Given the description of an element on the screen output the (x, y) to click on. 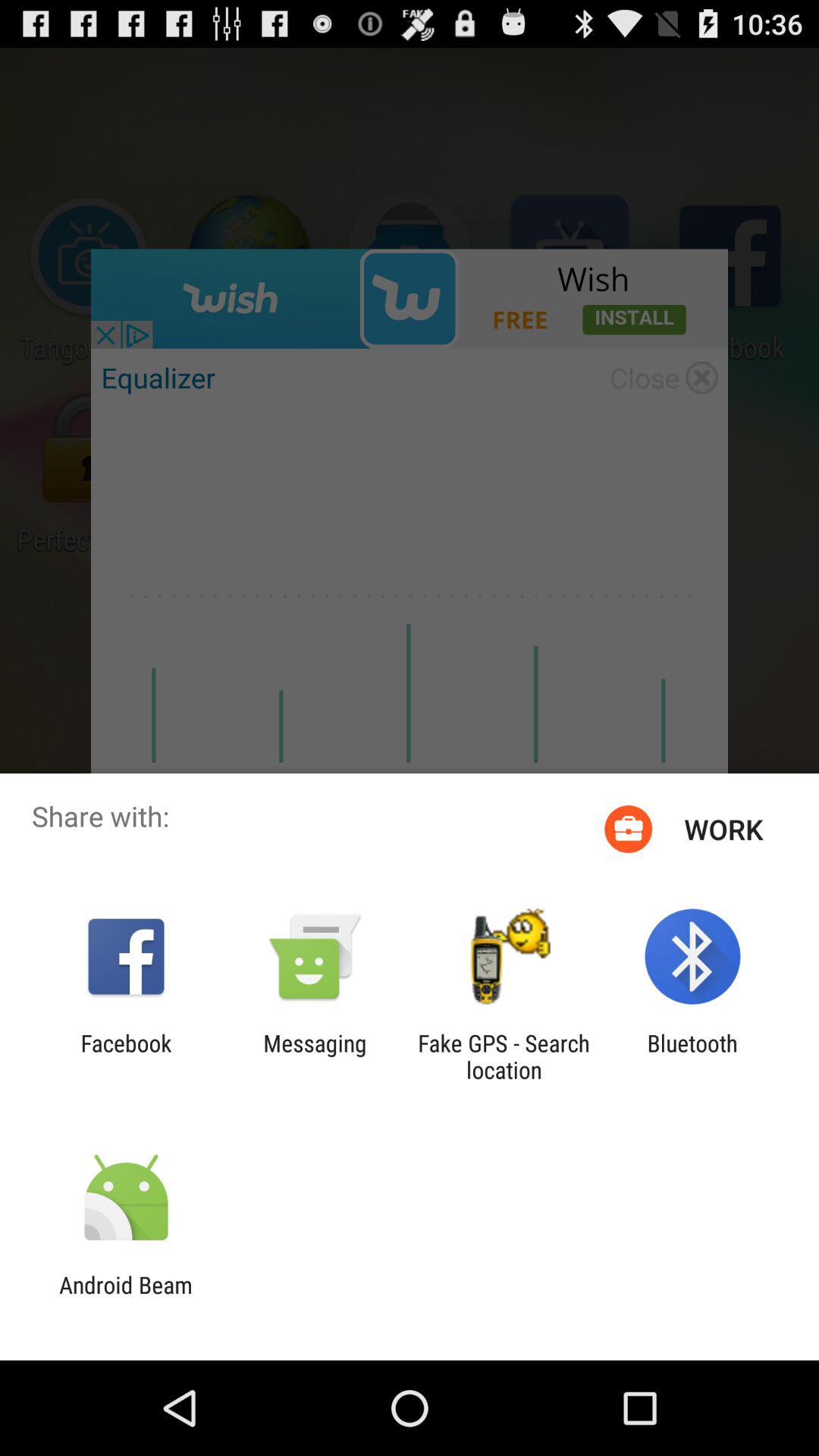
launch the item next to the facebook app (314, 1056)
